Given the description of an element on the screen output the (x, y) to click on. 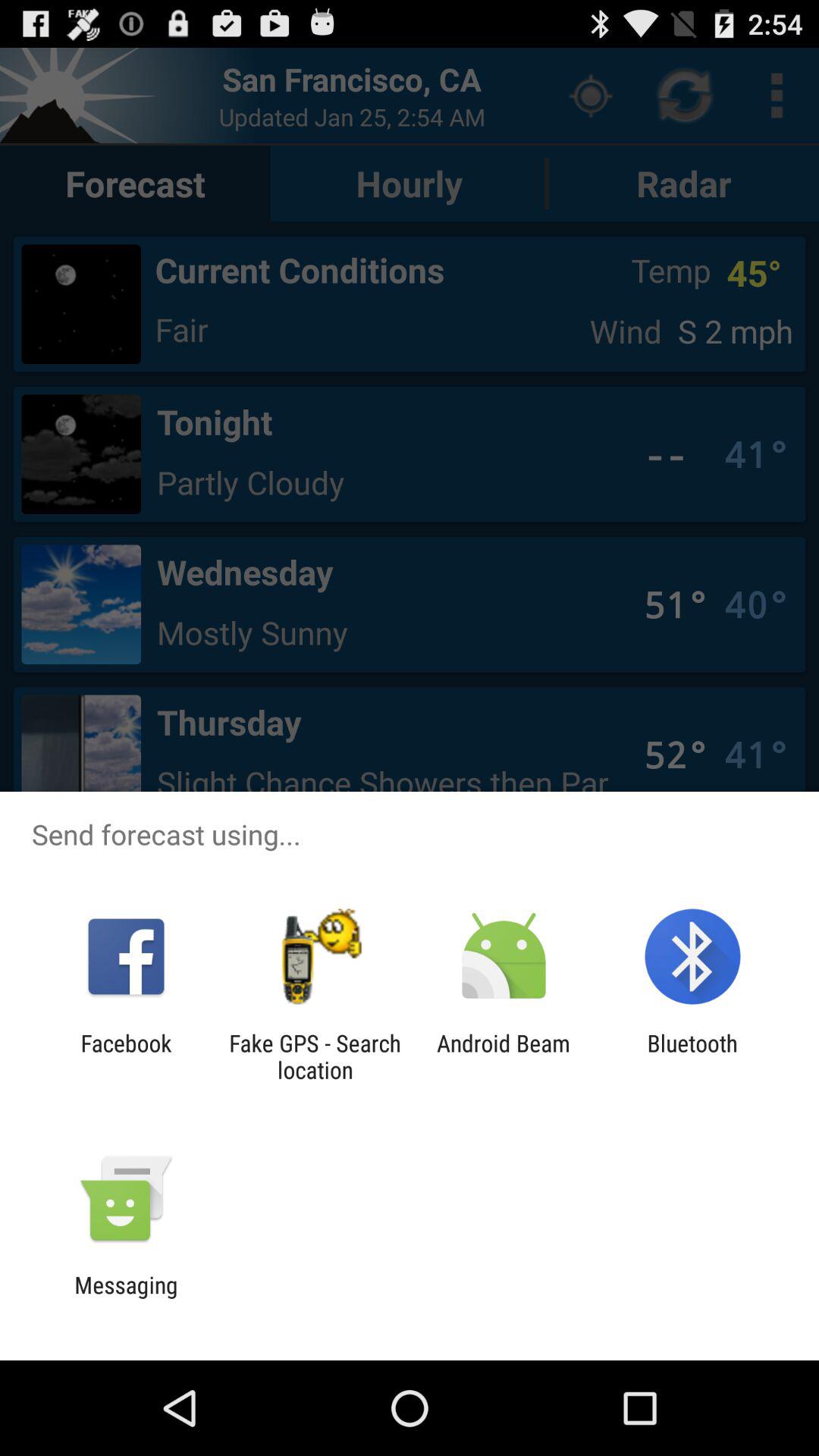
select item to the left of android beam icon (314, 1056)
